Given the description of an element on the screen output the (x, y) to click on. 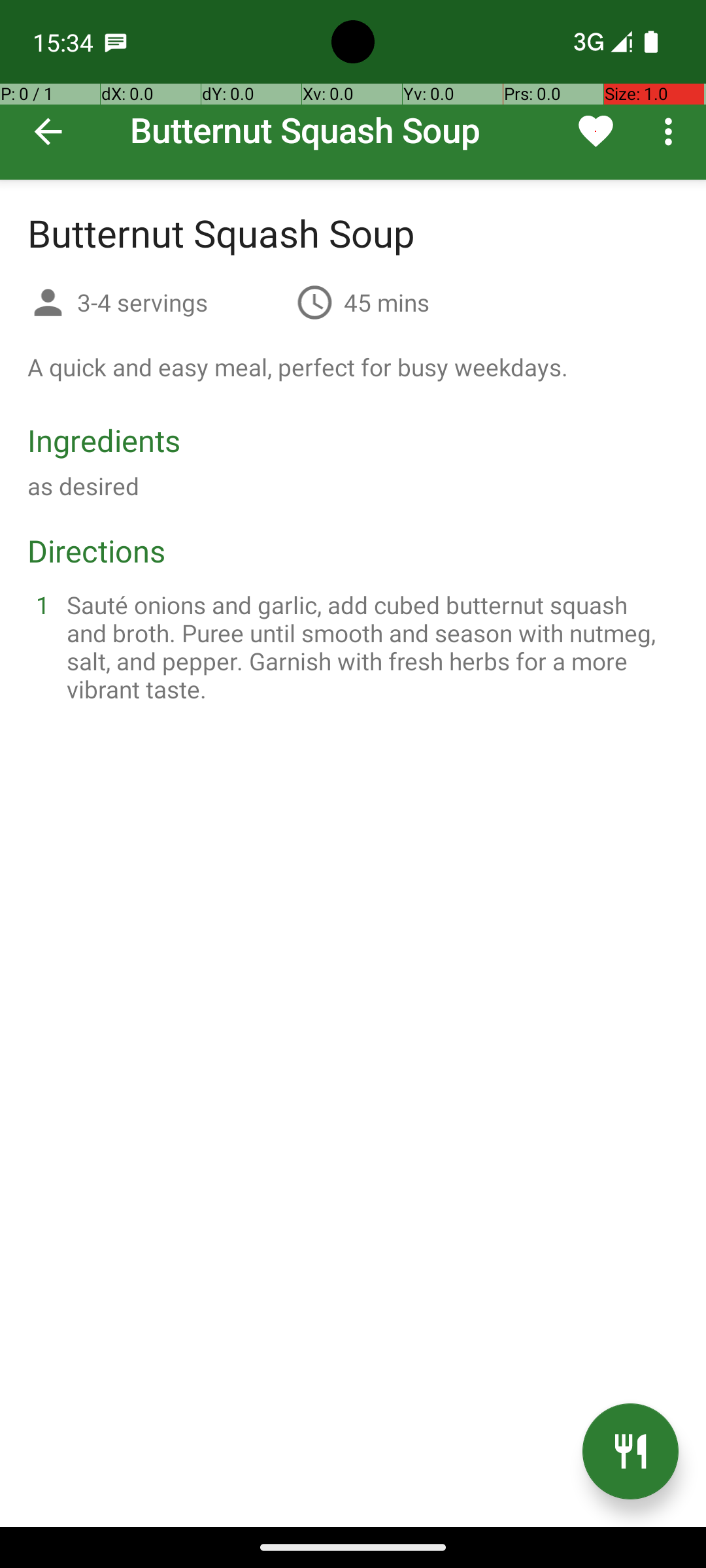
as desired Element type: android.widget.TextView (83, 485)
Sauté onions and garlic, add cubed butternut squash and broth. Puree until smooth and season with nutmeg, salt, and pepper. Garnish with fresh herbs for a more vibrant taste. Element type: android.widget.TextView (368, 646)
